Given the description of an element on the screen output the (x, y) to click on. 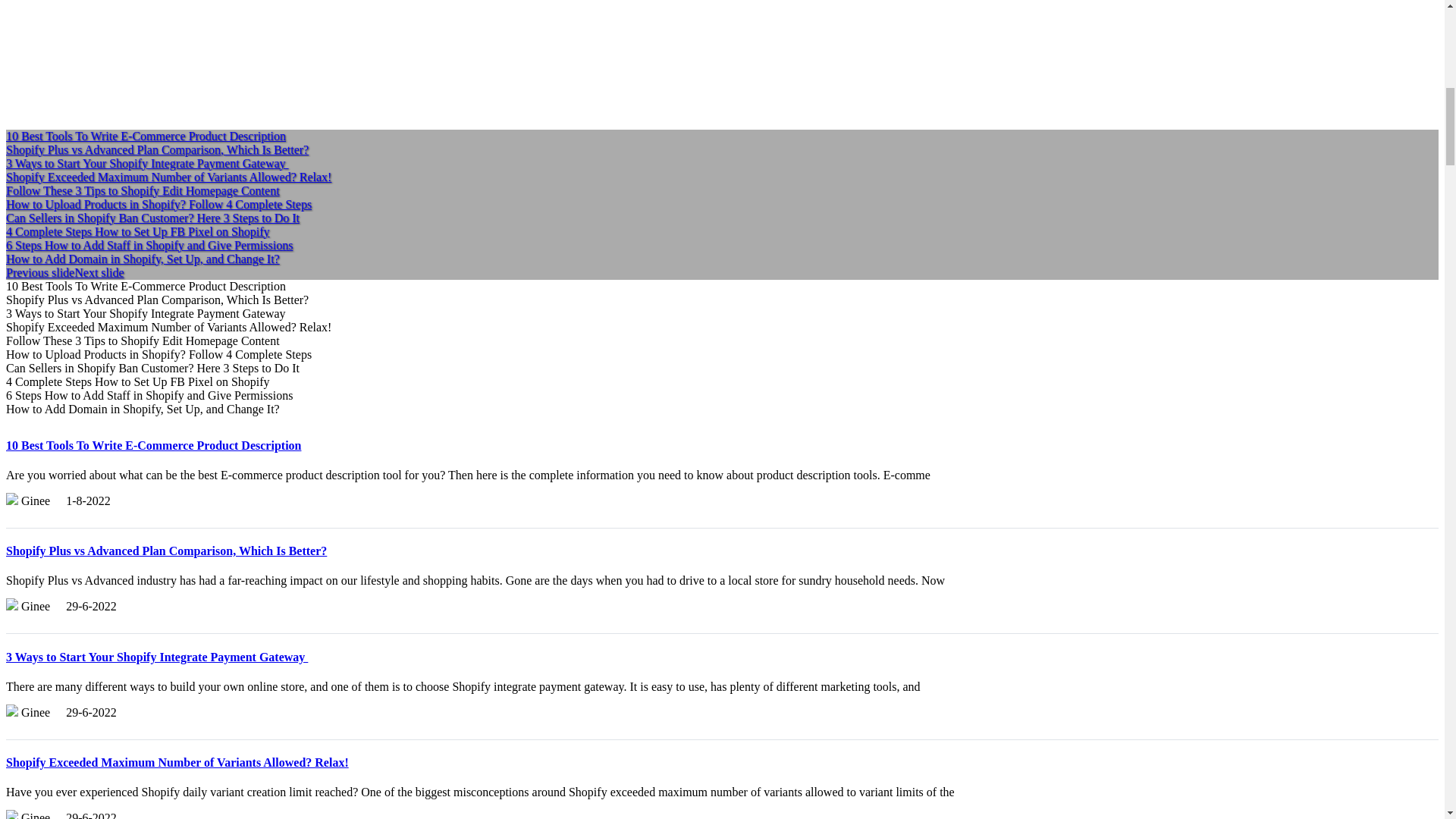
Next slide (98, 272)
Shopify Exceeded Maximum Number of Variants Allowed? Relax! (177, 762)
Previous slide (39, 272)
3 Ways to Start Your Shopify Integrate Payment Gateway  (156, 656)
10 Best Tools To Write E-Commerce Product Description (153, 445)
Shopify Plus vs Advanced Plan Comparison, Which Is Better? (165, 550)
